Given the description of an element on the screen output the (x, y) to click on. 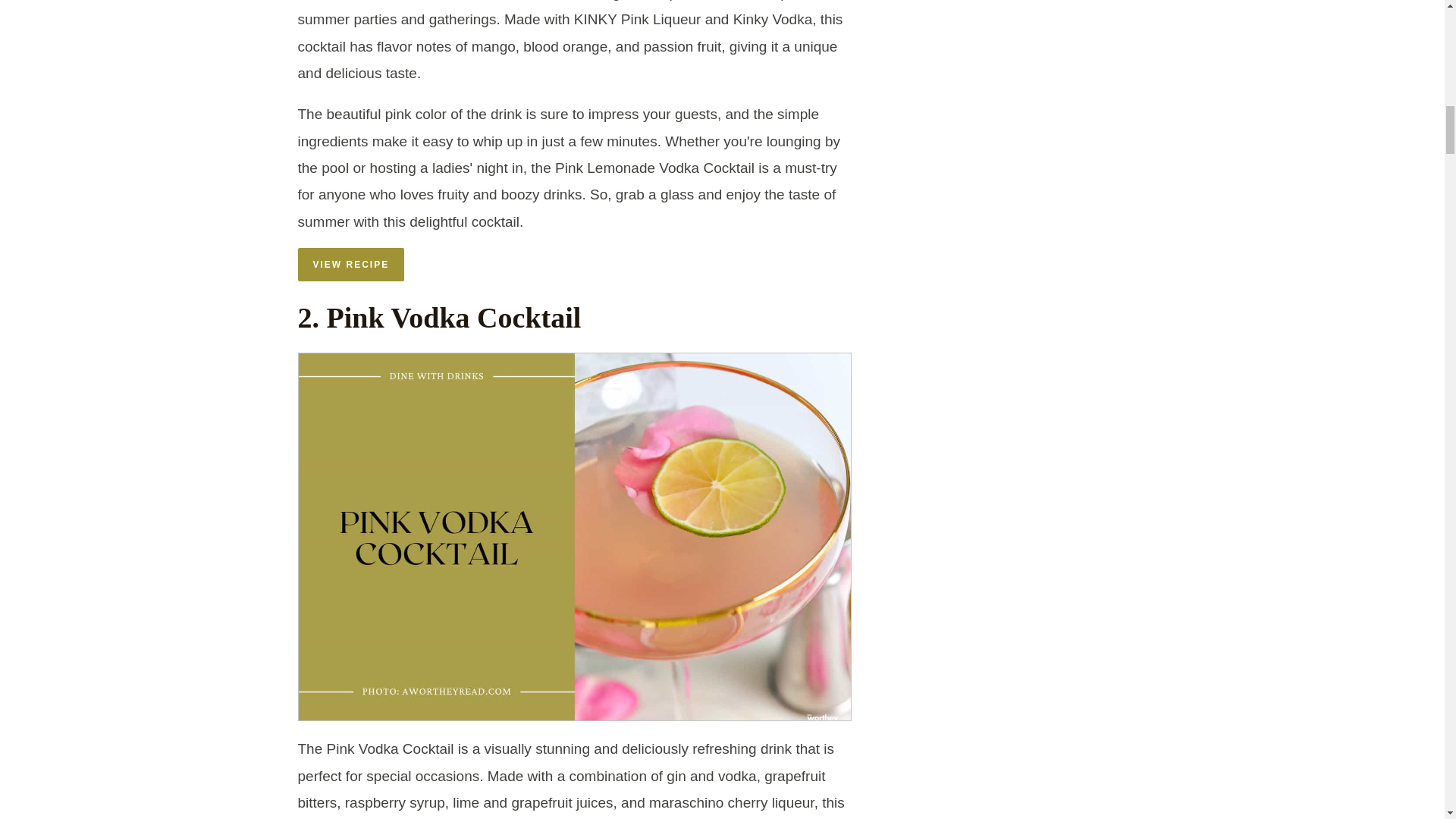
VIEW RECIPE (350, 264)
